Given the description of an element on the screen output the (x, y) to click on. 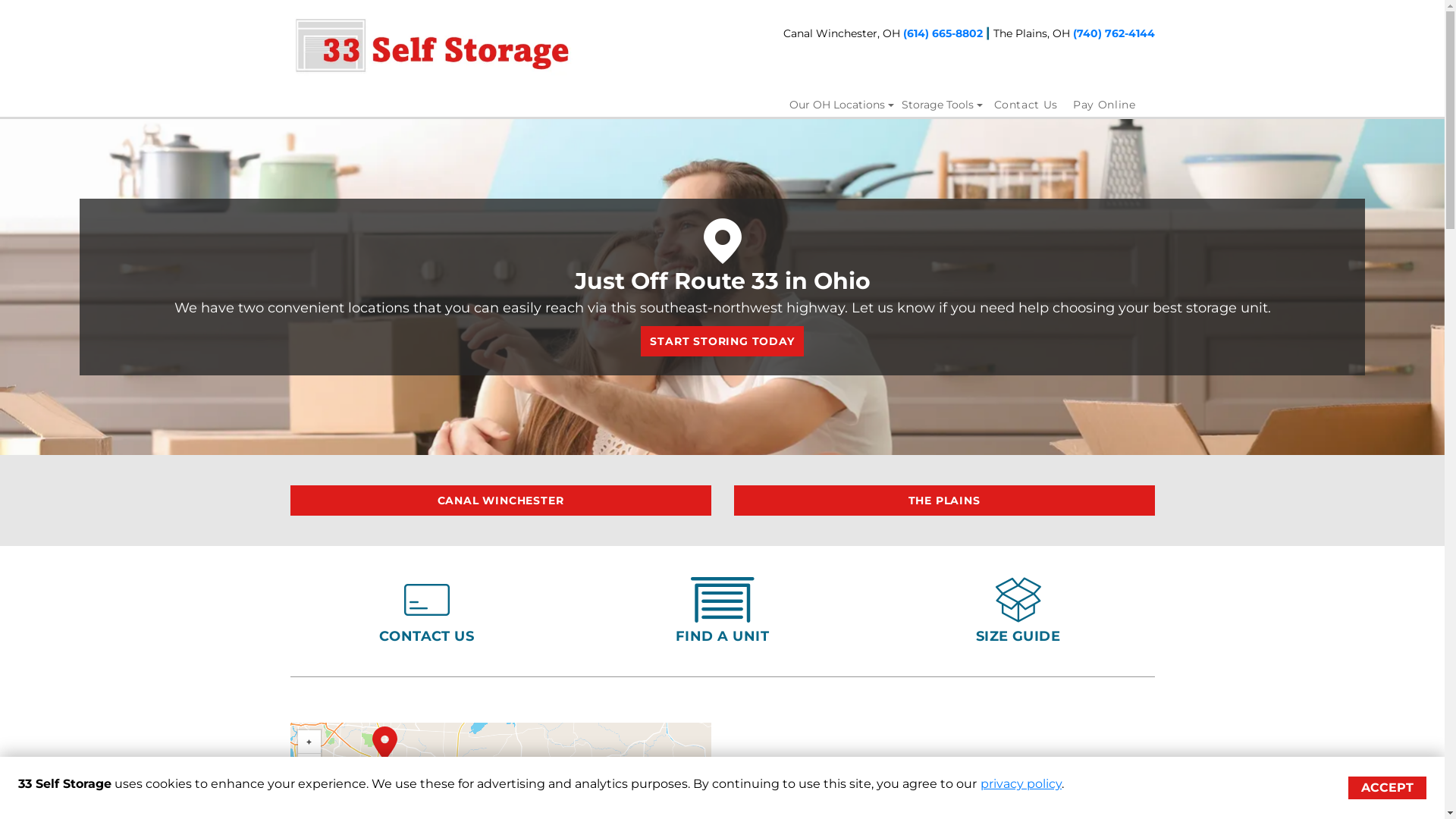
START STORING TODAY Element type: text (721, 341)
Contact Us Element type: text (1025, 104)
Pay Online Element type: text (1104, 104)
CONTACT US Element type: text (426, 635)
Toggle fullscreen Element type: hover (308, 794)
Zoom Out Element type: hover (308, 764)
(740) 762-4144 Element type: text (1113, 33)
Storage Tools Element type: text (941, 104)
33 Self Storage Element type: hover (431, 45)
THE PLAINS Element type: text (944, 500)
ACCEPT Element type: text (1387, 787)
Self Storage Element type: hover (722, 287)
(614) 665-8802 Element type: text (942, 33)
Zoom In Element type: hover (308, 741)
privacy policy Element type: text (1020, 783)
SIZE GUIDE Element type: text (1017, 635)
FIND A UNIT Element type: text (721, 635)
Our OH Locations Element type: text (841, 104)
CANAL WINCHESTER Element type: text (499, 500)
